Given the description of an element on the screen output the (x, y) to click on. 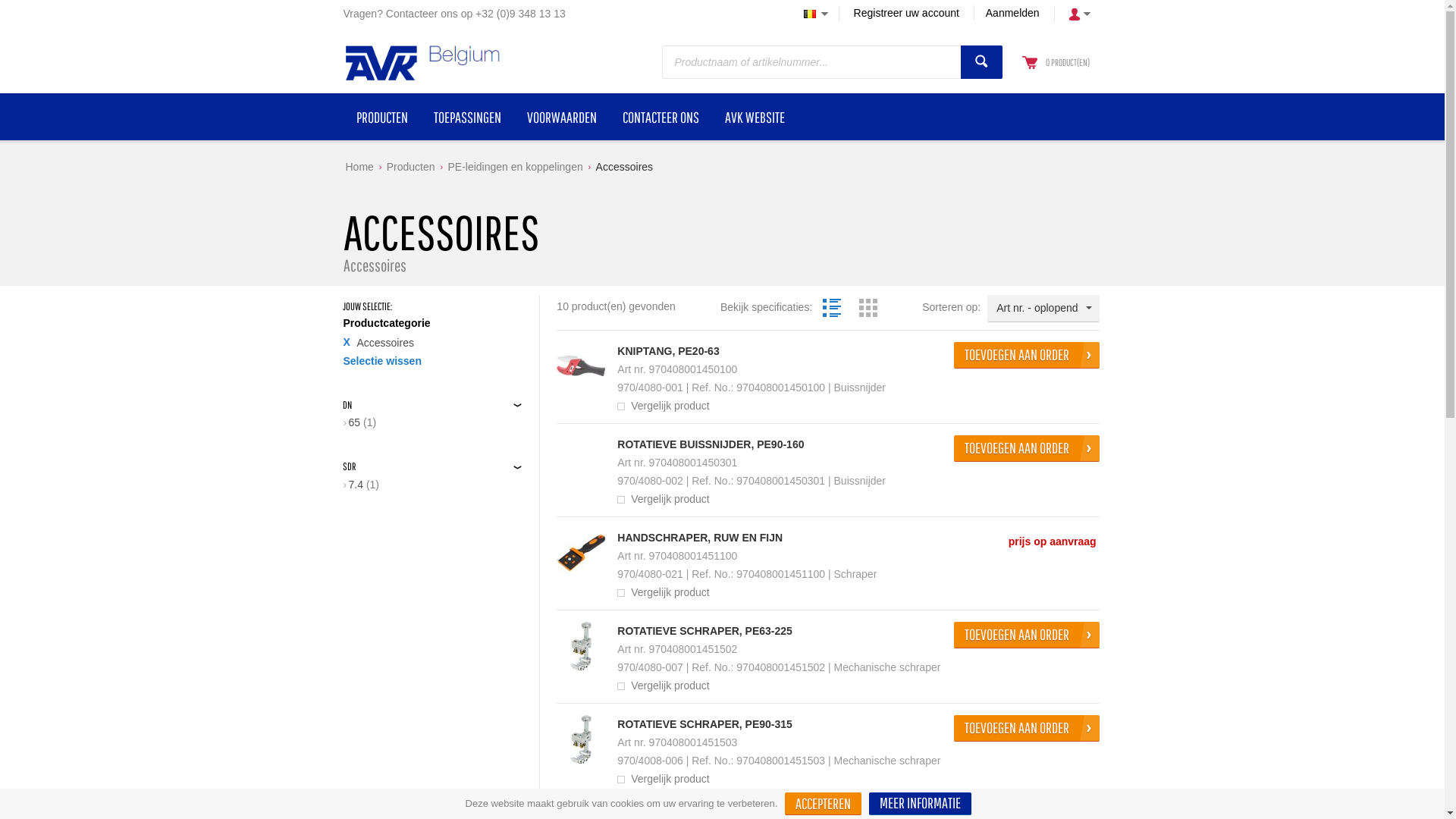
ROTATIEVE SCHRAPER, PE90-315 Element type: hover (580, 739)
ROTATIEVE SCHRAPER, PE63-225 Element type: hover (580, 645)
X Element type: text (345, 341)
TOEVOEGEN AAN ORDER Element type: text (1026, 355)
Rasterweergave Element type: hover (868, 307)
Selectie wissen Element type: text (381, 360)
VOORWAARDEN Element type: text (561, 116)
Home Element type: text (359, 166)
Zoek producten Element type: hover (980, 61)
AVK WEBSITE Element type: text (754, 116)
Registreer uw account Element type: text (906, 12)
Accessoires Element type: text (624, 166)
0 PRODUCT(EN) Element type: text (1066, 61)
Producten Element type: text (410, 166)
ROTATIEVE SCHRAPER, PE63-225 Element type: text (704, 630)
7.4 Element type: text (352, 484)
KNIPTANG, PE20-63 Element type: text (667, 351)
Aanmelden Element type: text (1012, 12)
65 Element type: text (351, 422)
TOEVOEGEN AAN ORDER Element type: text (1026, 634)
HANDSCHRAPER, RUW EN FIJN Element type: hover (580, 552)
HANDSCHRAPER, RUW EN FIJN Element type: text (699, 537)
PRODUCTEN Element type: text (381, 116)
TOEPASSINGEN Element type: text (466, 116)
PE-leidingen en koppelingen Element type: text (514, 166)
ROTATIEVE BUISSNIJDER, PE90-160 Element type: hover (580, 458)
MEER INFORMATIE Element type: text (920, 803)
ROTATIEVE BUISSNIJDER, PE90-160 Element type: text (710, 444)
CONTACTEER ONS Element type: text (660, 116)
TOEVOEGEN AAN ORDER Element type: text (1026, 448)
ROTATIEVE SCHRAPER, PE90-315 Element type: text (704, 724)
TOEVOEGEN AAN ORDER Element type: text (1026, 728)
Lijnweergave Element type: hover (831, 307)
ACCEPTEREN Element type: text (822, 803)
KNIPTANG, PE20-63 Element type: hover (580, 365)
